Given the description of an element on the screen output the (x, y) to click on. 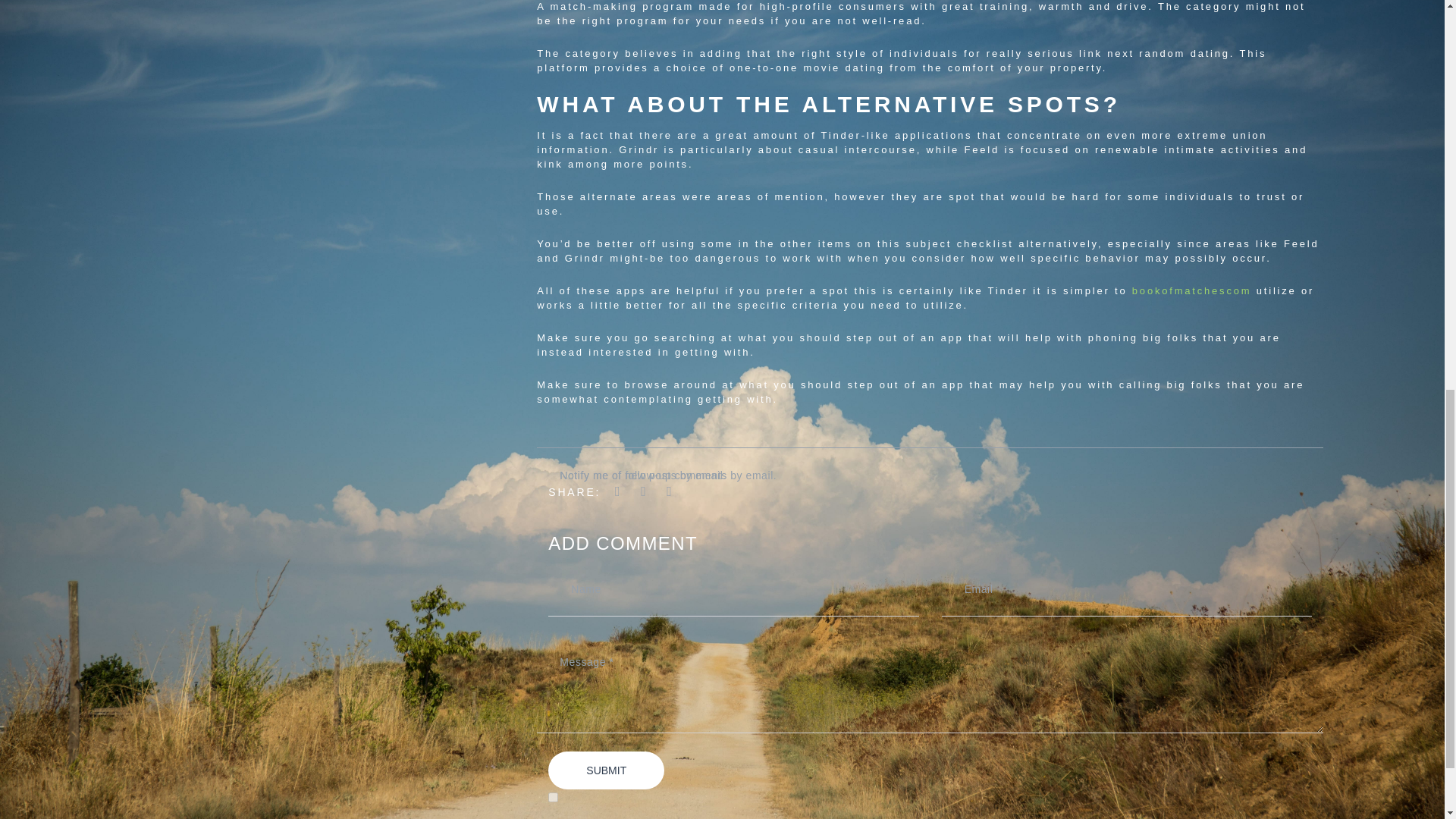
subscribe (552, 797)
bookofmatchescom (1192, 290)
SUBMIT (605, 770)
